Given the description of an element on the screen output the (x, y) to click on. 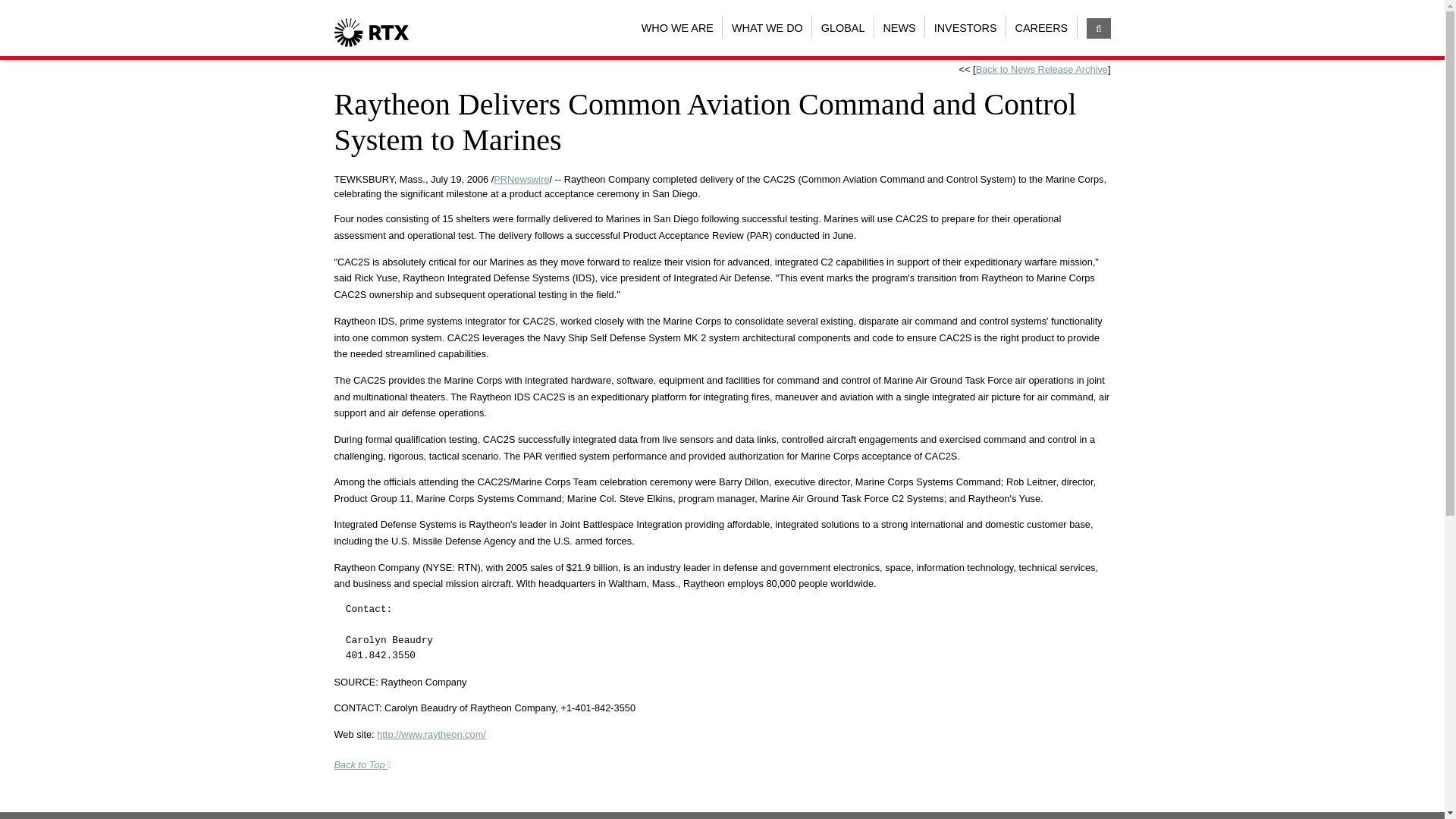
NEWS (899, 27)
WHO WE ARE (676, 27)
GLOBAL (842, 27)
WHAT WE DO (766, 27)
